Given the description of an element on the screen output the (x, y) to click on. 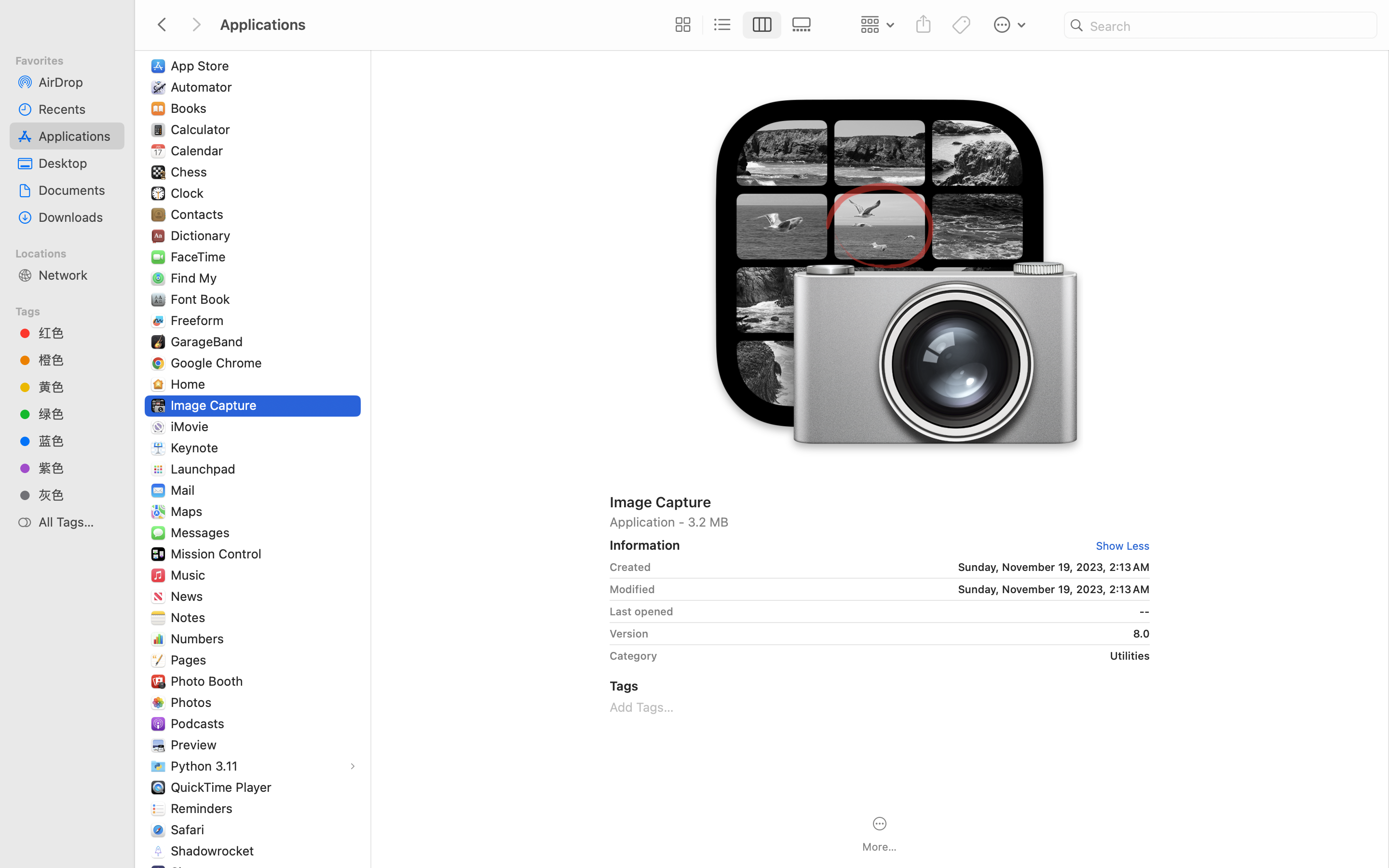
iMovie Element type: AXTextField (191, 426)
Category Element type: AXStaticText (632, 655)
Contacts Element type: AXTextField (198, 213)
Reminders Element type: AXTextField (203, 807)
Home Element type: AXTextField (189, 383)
